Given the description of an element on the screen output the (x, y) to click on. 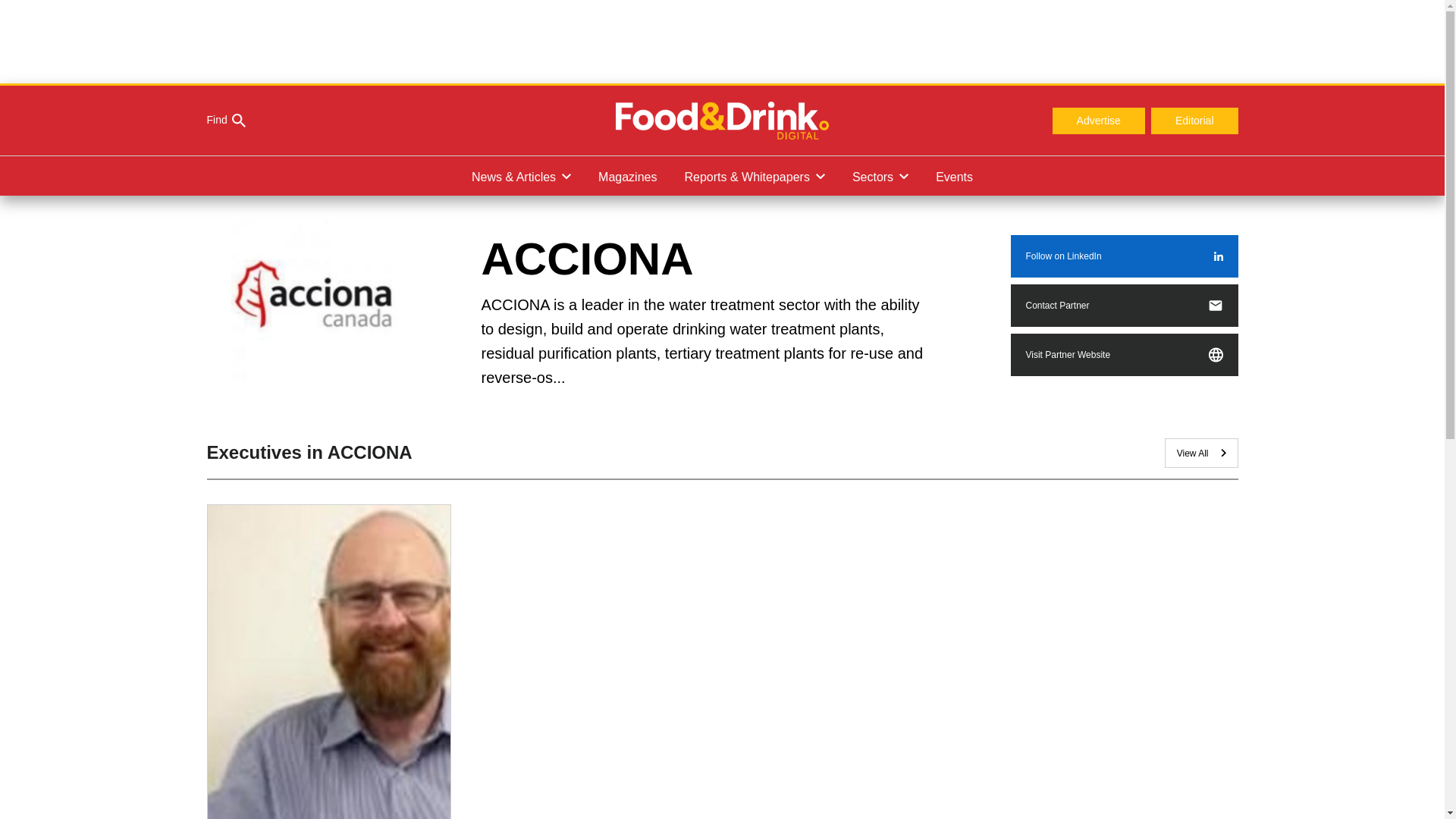
Advertise (1098, 121)
Sectors (879, 175)
Contact Partner (1123, 305)
Events (954, 175)
Visit Partner Website (1123, 354)
Follow on LinkedIn (1123, 256)
Find (225, 120)
View All (1201, 452)
Magazines (627, 175)
Editorial (1195, 121)
